Given the description of an element on the screen output the (x, y) to click on. 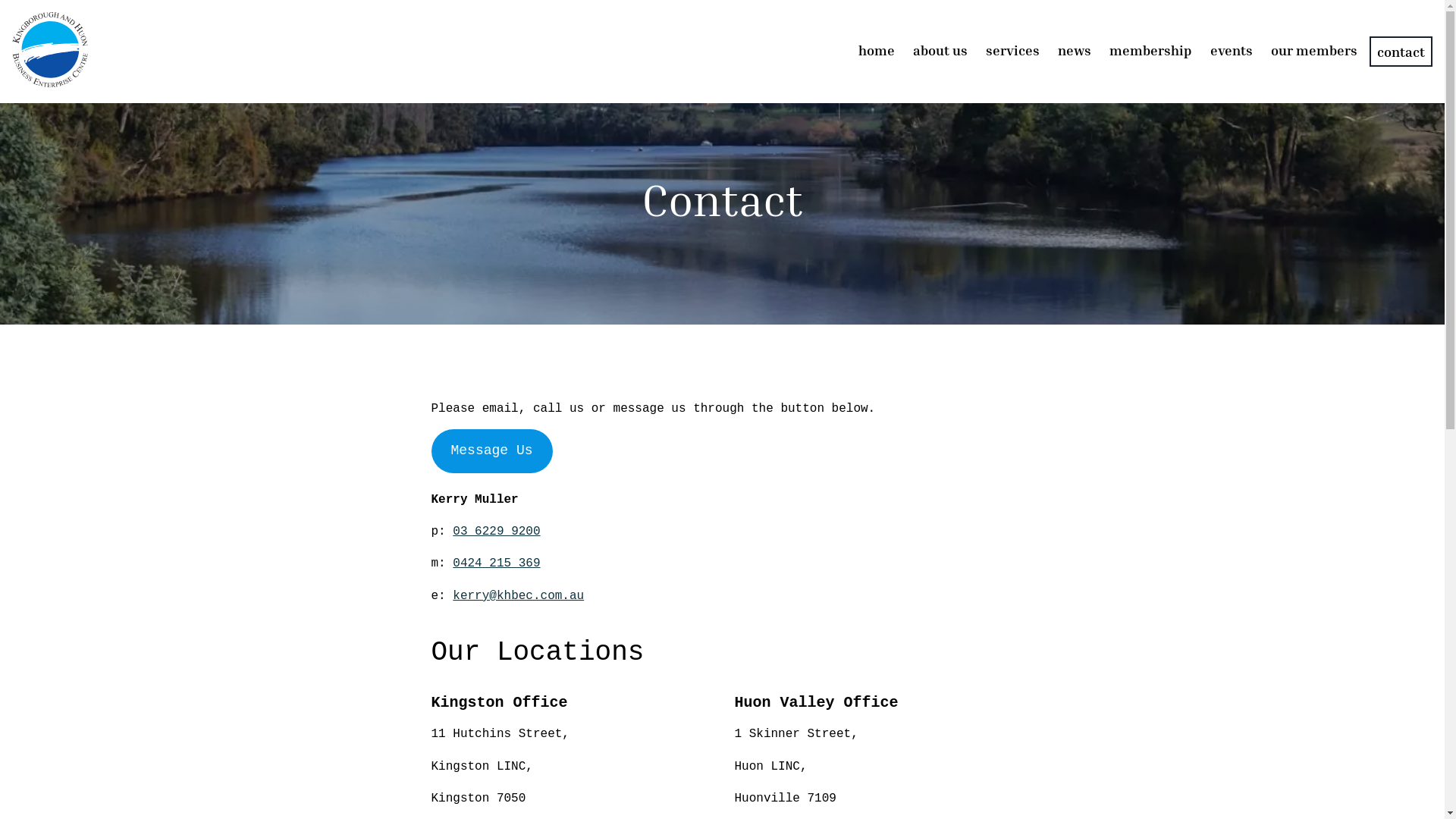
our members Element type: text (1313, 49)
membership Element type: text (1150, 49)
services Element type: text (1012, 49)
0424 215 369 Element type: text (495, 563)
about us Element type: text (940, 49)
news Element type: text (1074, 49)
kerry@khbec.com.au Element type: text (517, 595)
home Element type: text (876, 49)
contact Element type: text (1400, 51)
events Element type: text (1231, 49)
Message Us Element type: text (491, 450)
03 6229 9200 Element type: text (495, 531)
